Given the description of an element on the screen output the (x, y) to click on. 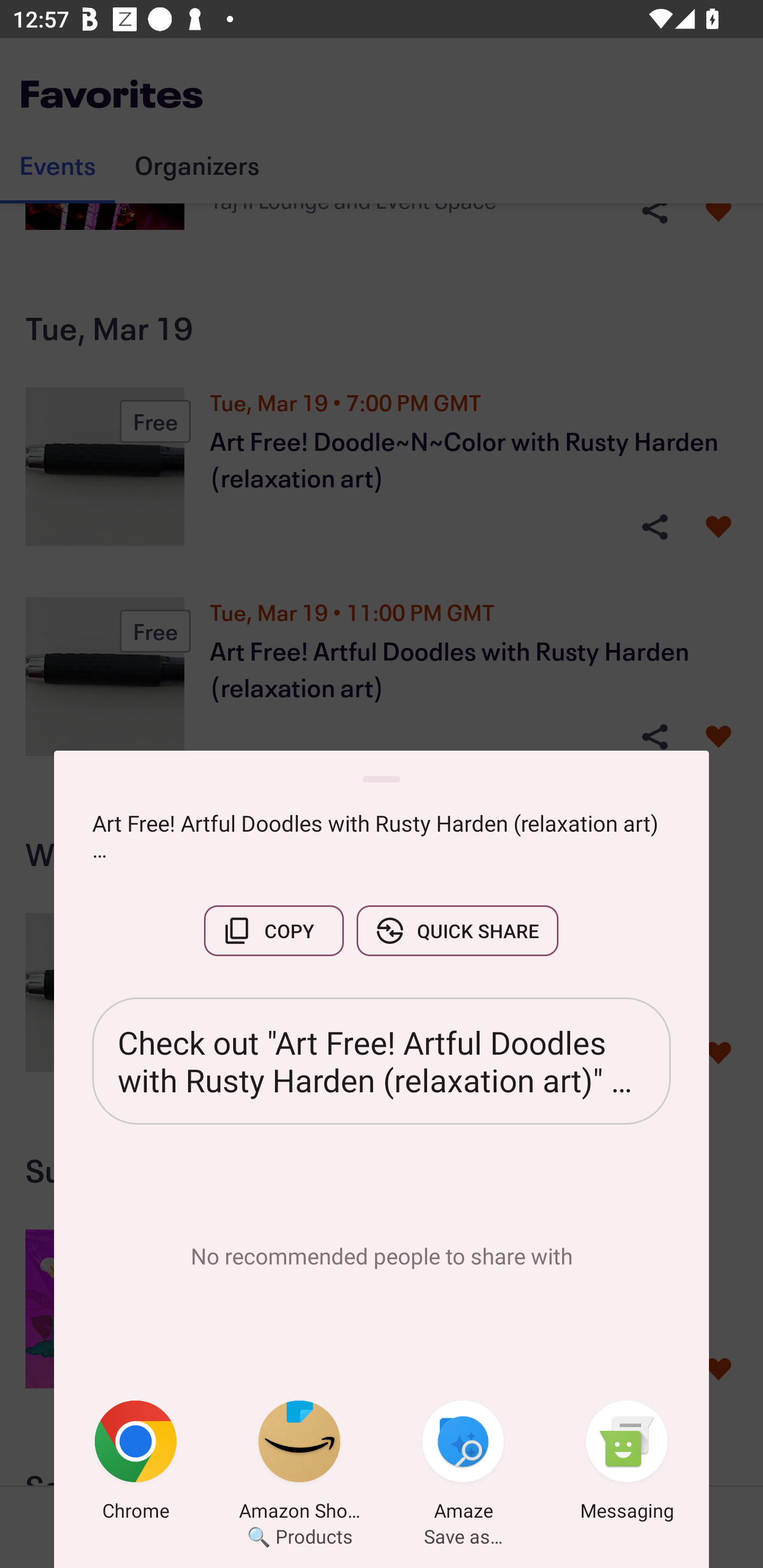
COPY (273, 930)
QUICK SHARE (457, 930)
Chrome (135, 1463)
Amazon Shopping 🔍 Products (299, 1463)
Amaze Save as… (463, 1463)
Messaging (626, 1463)
